Given the description of an element on the screen output the (x, y) to click on. 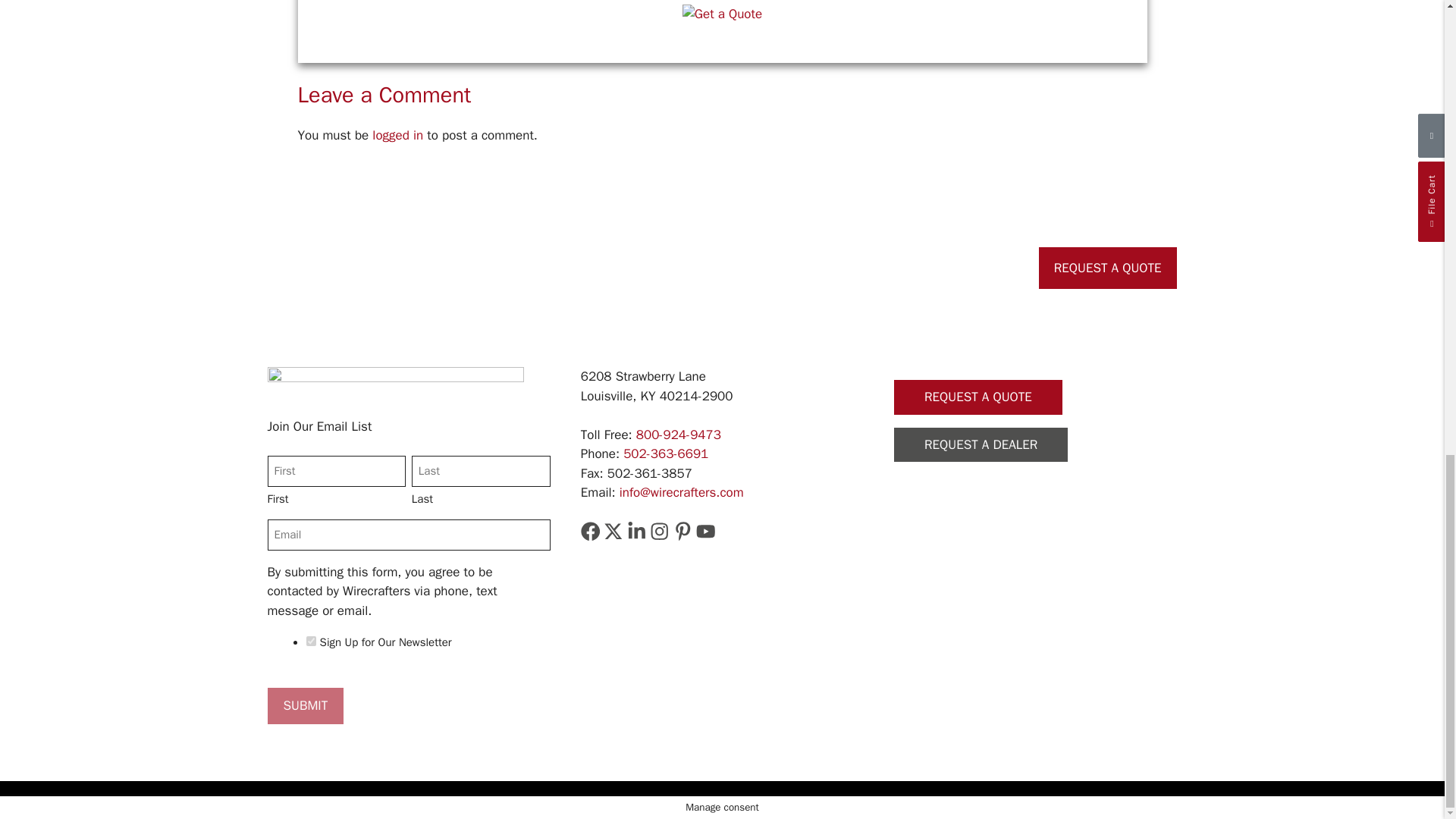
Scroll back to top (1406, 507)
wirecrafters-logo (394, 384)
Generic-Quote-Banner (721, 14)
1 (310, 641)
Submit (304, 705)
